Given the description of an element on the screen output the (x, y) to click on. 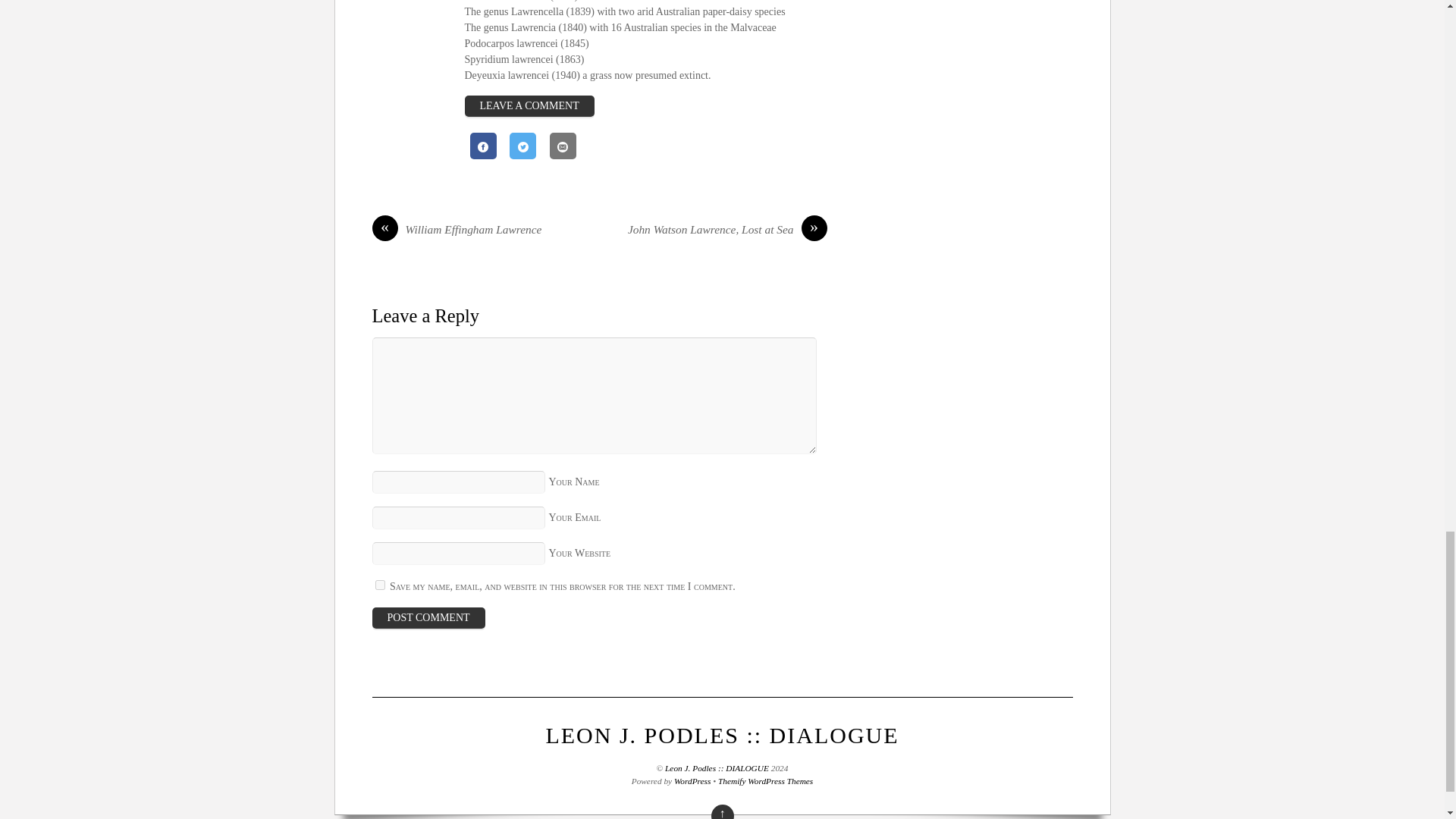
LEAVE A COMMENT (529, 106)
Post Comment (427, 617)
Post Comment (427, 617)
yes (379, 584)
